Given the description of an element on the screen output the (x, y) to click on. 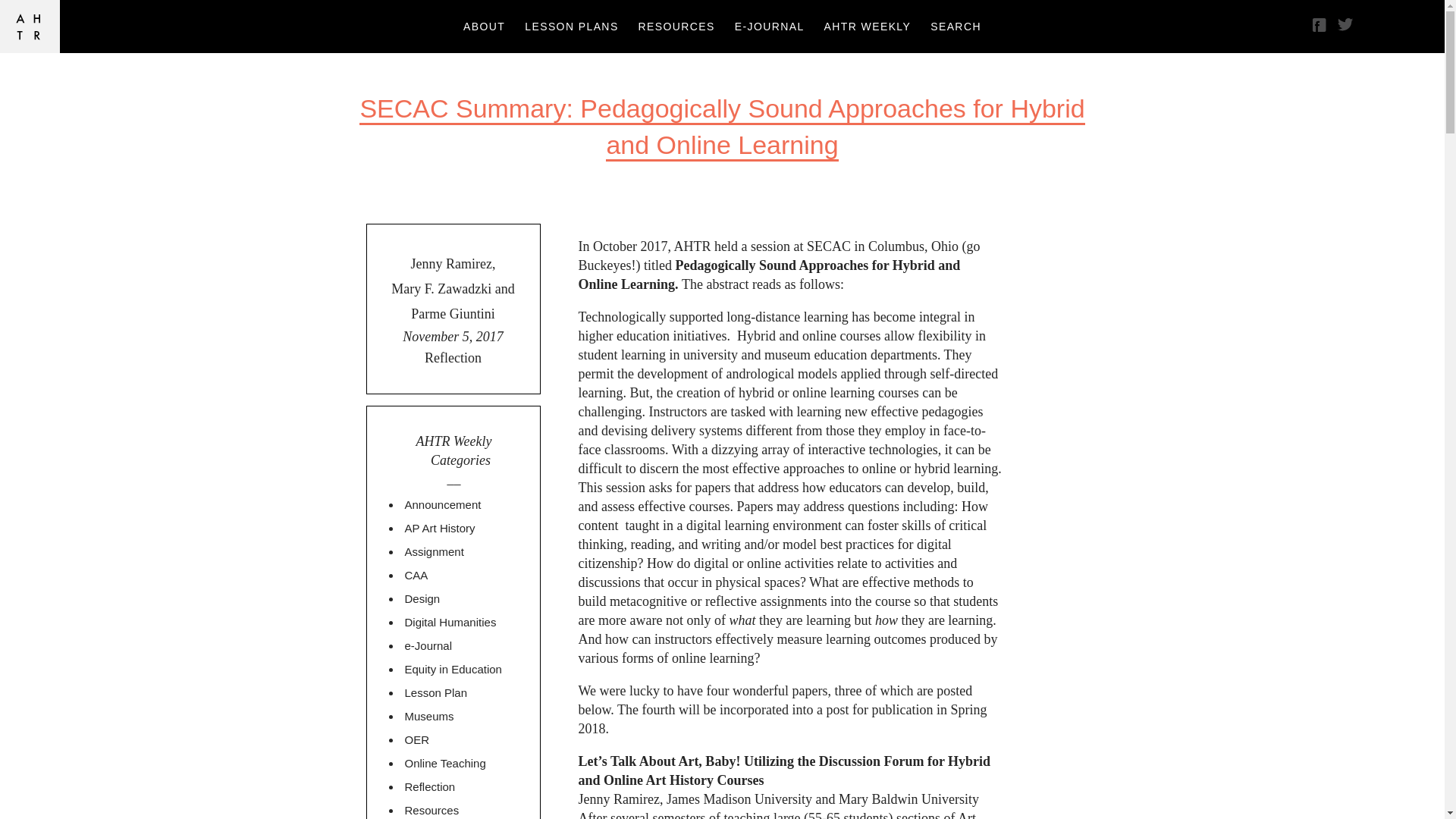
RESOURCES (676, 25)
LESSON PLANS (571, 25)
E-JOURNAL (769, 25)
ABOUT (483, 25)
AHTR WEEKLY (867, 25)
SEARCH (955, 25)
